Given the description of an element on the screen output the (x, y) to click on. 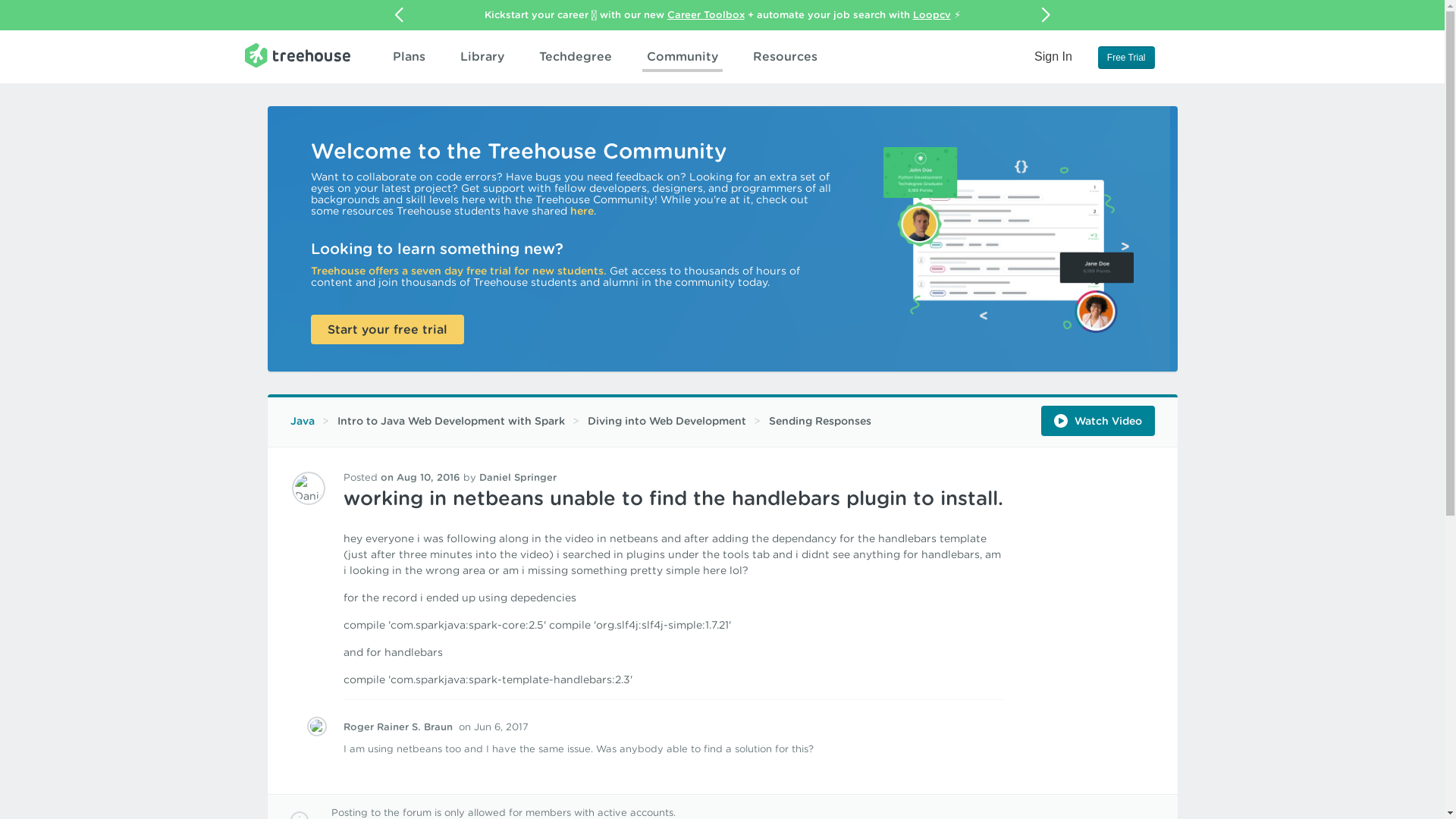
Career Toolbox (705, 14)
Treehouse Logo (296, 55)
August 10, 2016 at 4:38pm CST (420, 477)
Treehouse Logo (296, 55)
Loopcv (931, 14)
Plans (408, 56)
June 6, 2017 at 8:00pm CST (492, 726)
